Given the description of an element on the screen output the (x, y) to click on. 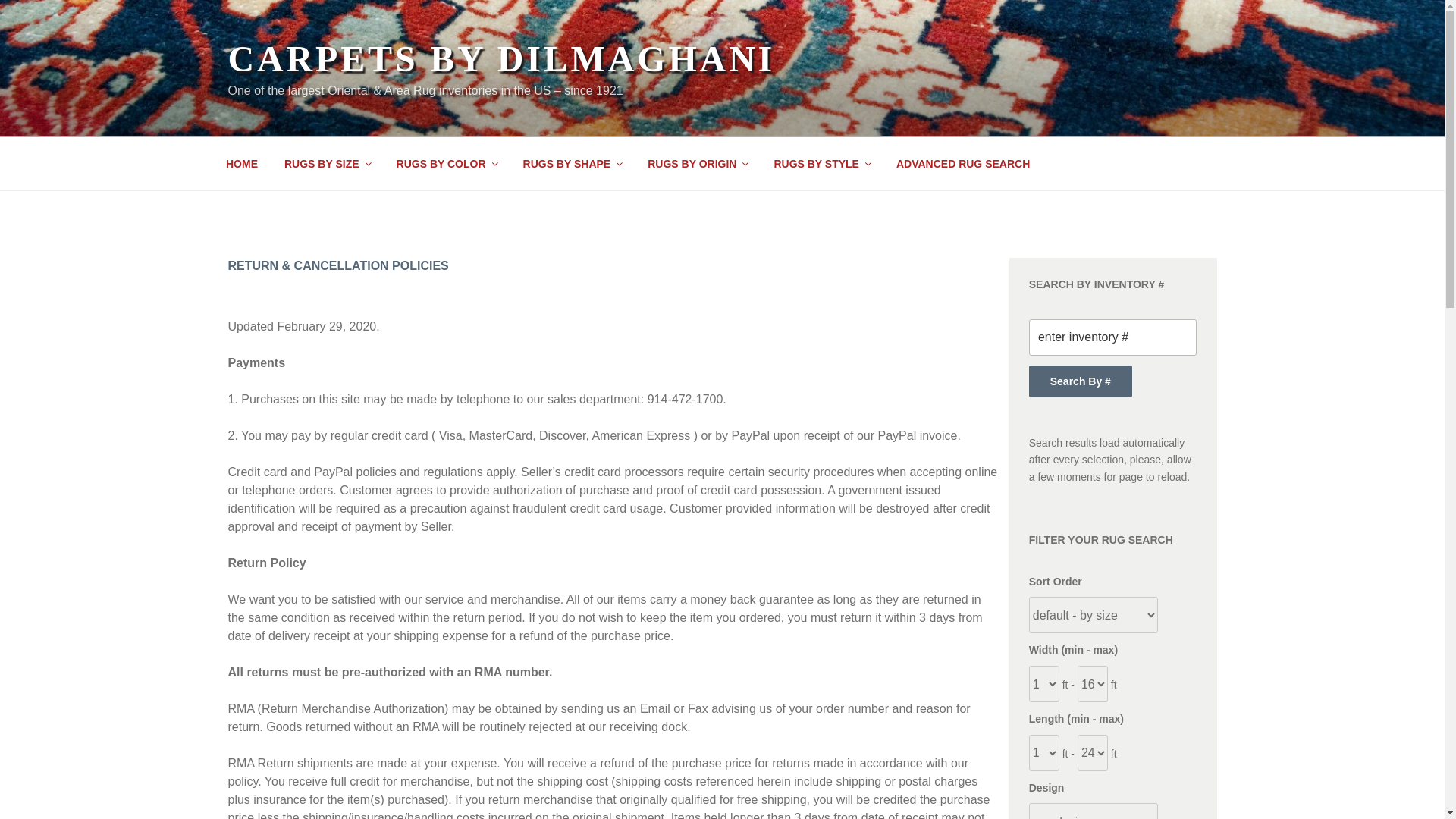
Rugs by Dimensions (327, 163)
RUGS BY SIZE (327, 163)
HOME (241, 163)
CARPETS BY DILMAGHANI (500, 58)
